Given the description of an element on the screen output the (x, y) to click on. 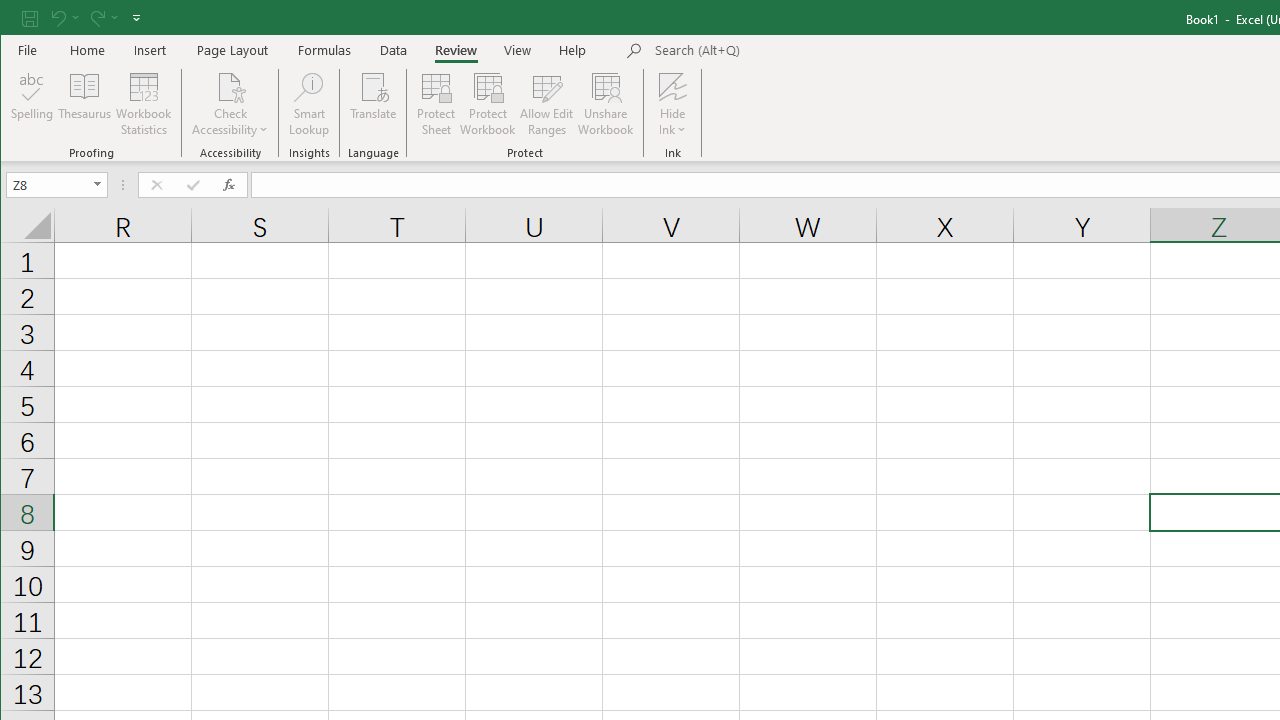
Protect Sheet... (436, 104)
Translate (373, 104)
Protect Workbook... (488, 104)
Smart Lookup (308, 104)
